Given the description of an element on the screen output the (x, y) to click on. 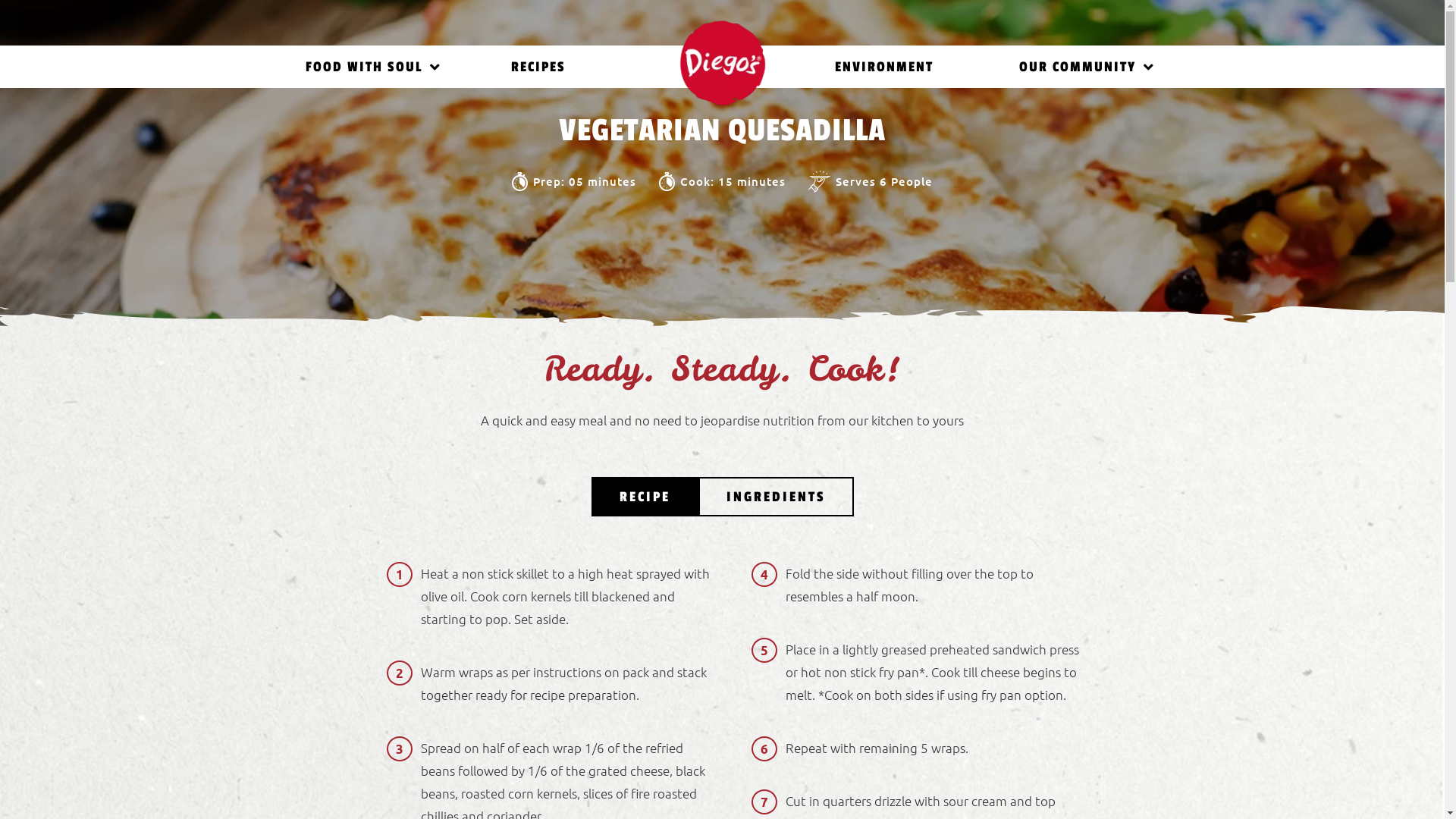
FOOD WITH SOUL Element type: text (364, 66)
ENVIRONMENT Element type: text (883, 66)
RECIPE Element type: text (644, 496)
INGREDIENTS Element type: text (775, 496)
RECIPES Element type: text (537, 66)
OUR COMMUNITY Element type: text (1079, 66)
